Given the description of an element on the screen output the (x, y) to click on. 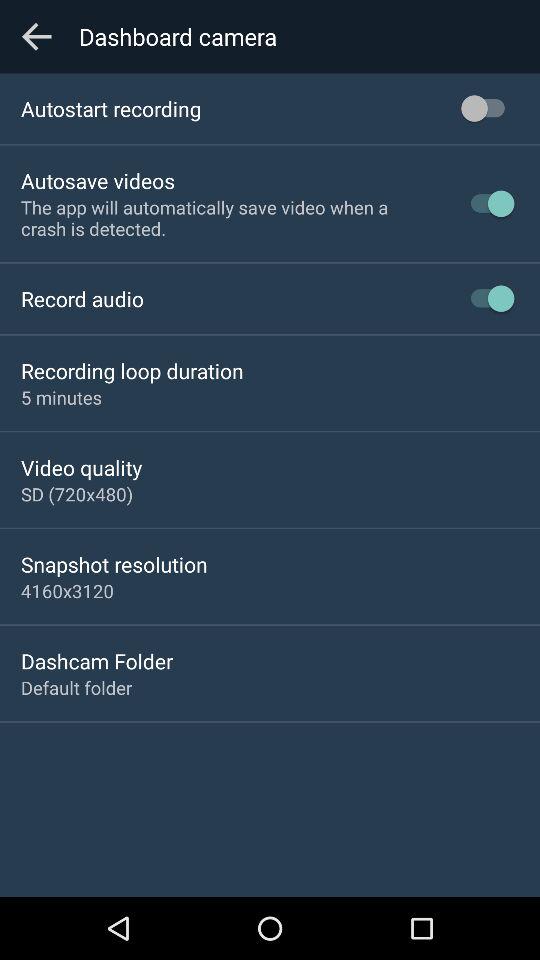
tap icon above recording loop duration app (82, 298)
